Given the description of an element on the screen output the (x, y) to click on. 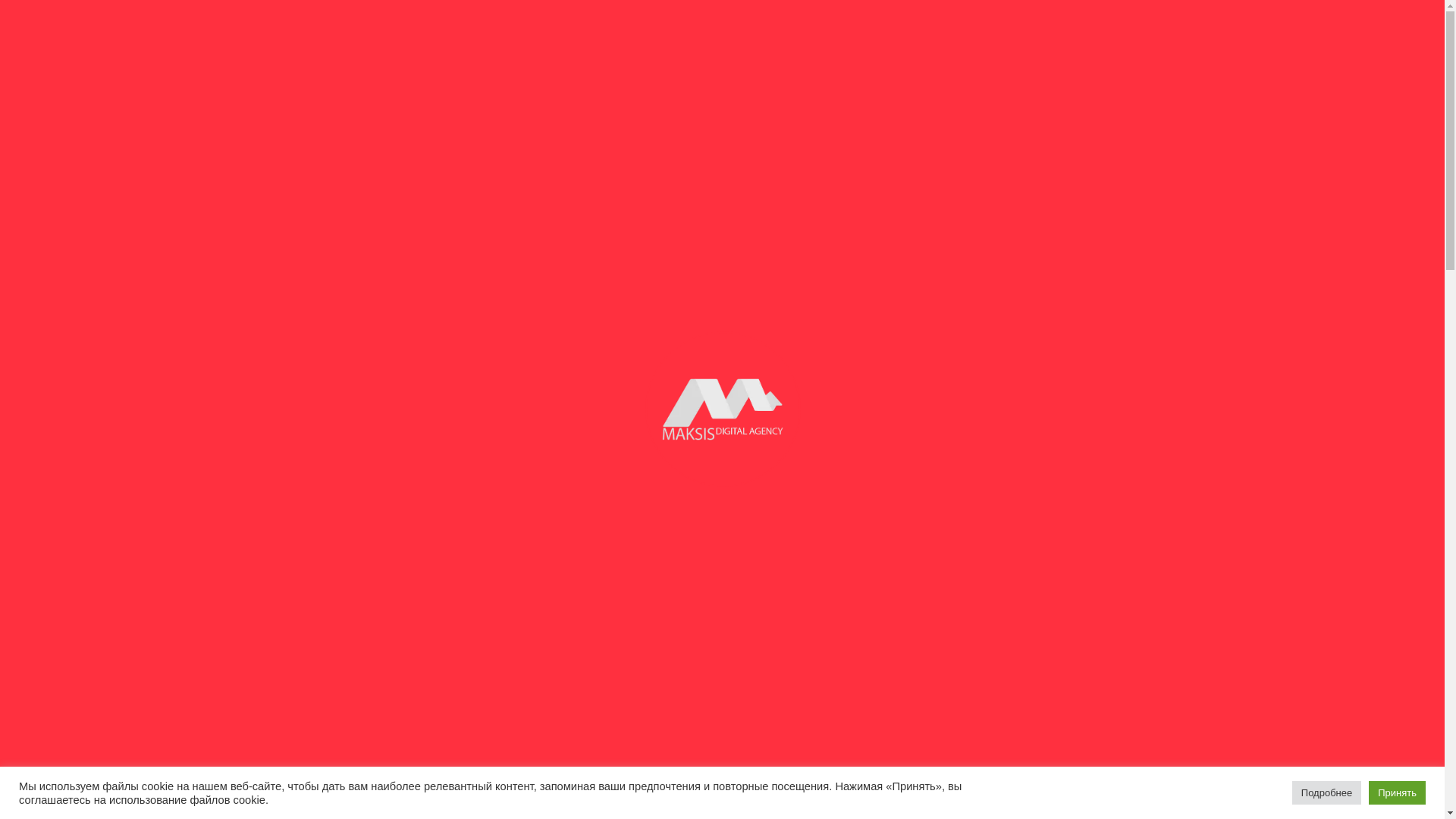
MAKSIS
DIGITAL AGENCY Element type: text (350, 59)
EN Element type: text (990, 49)
